Given the description of an element on the screen output the (x, y) to click on. 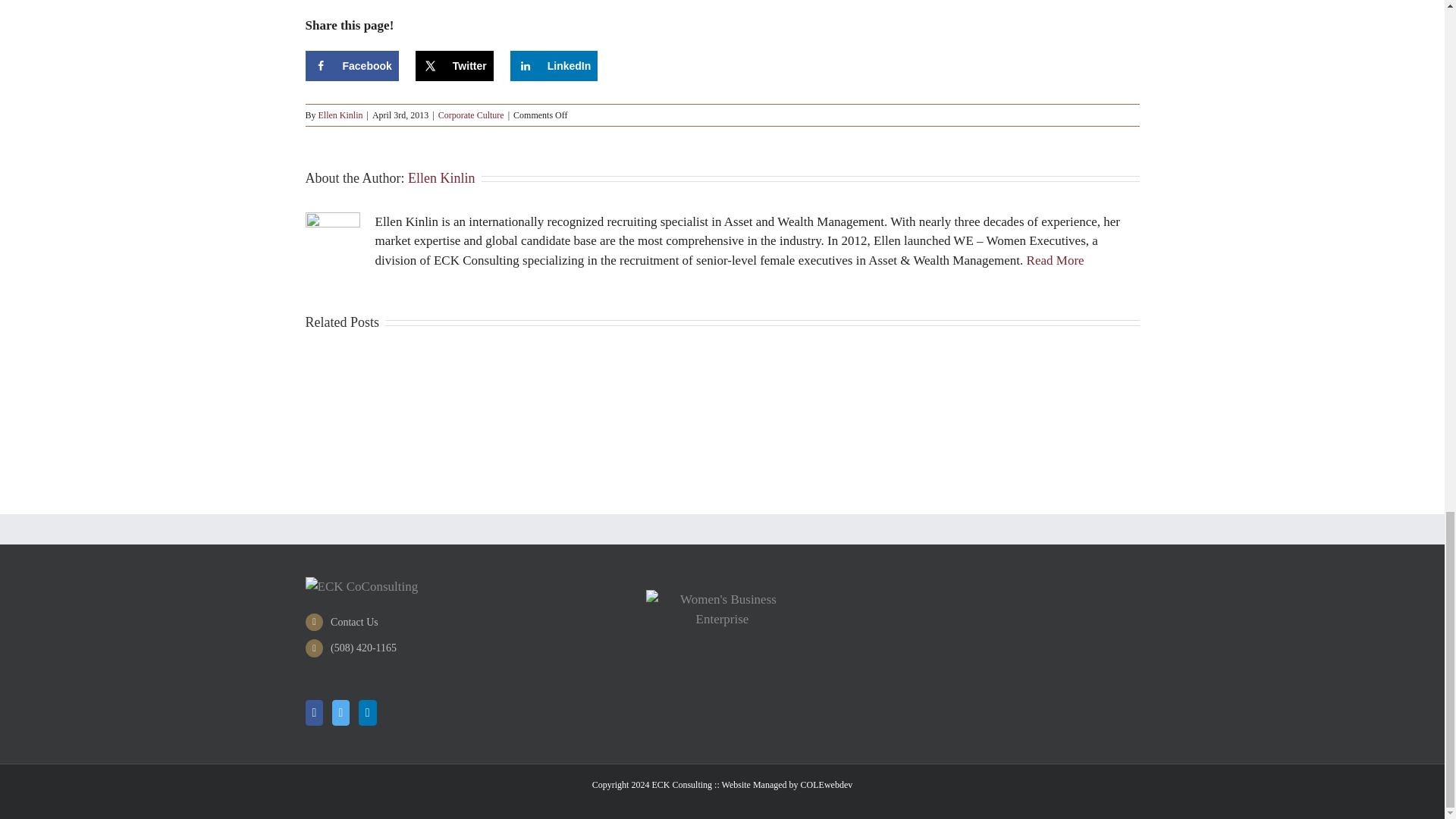
Facebook (350, 65)
Ellen Kinlin (441, 177)
Corporate Culture (470, 114)
Ellen Kinlin (340, 114)
Share on LinkedIn (554, 65)
Posts by Ellen Kinlin (441, 177)
Read More (1055, 260)
Share on Facebook (350, 65)
Posts by Ellen Kinlin (340, 114)
Twitter (453, 65)
